Given the description of an element on the screen output the (x, y) to click on. 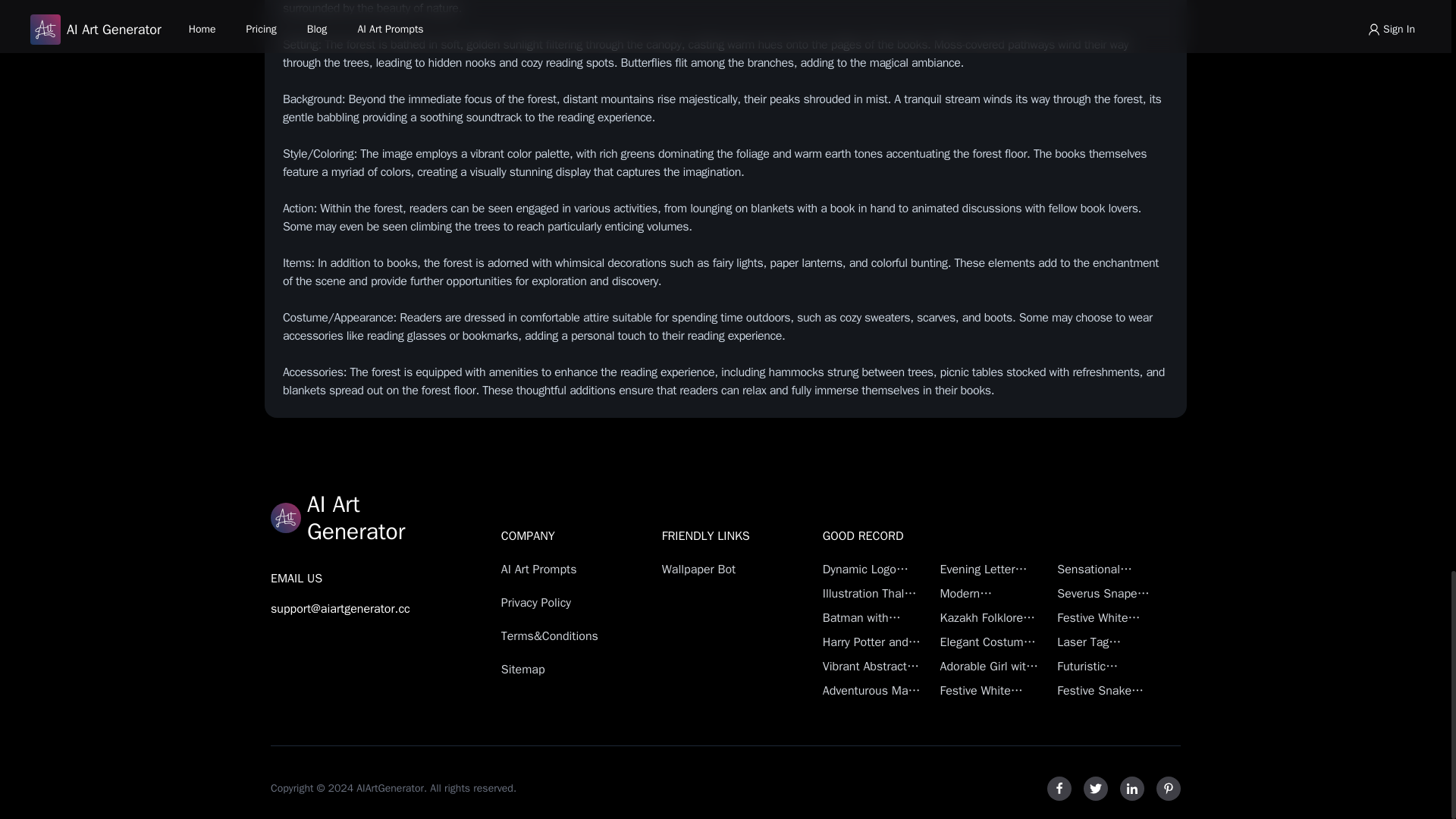
Evening Letter Writing by a Thoughtful Girl (989, 569)
Privacy Policy (553, 602)
Sitemap (553, 669)
Adorable Girl with a Dollop of Sour Cream Culinary Delight (989, 666)
AI Art Generator (340, 517)
Wallpaper Bot (715, 569)
Privacy Policy (553, 602)
Dynamic Logo Design Expressive Frag Fury Emblem (871, 569)
AI Art Prompts (553, 569)
